Given the description of an element on the screen output the (x, y) to click on. 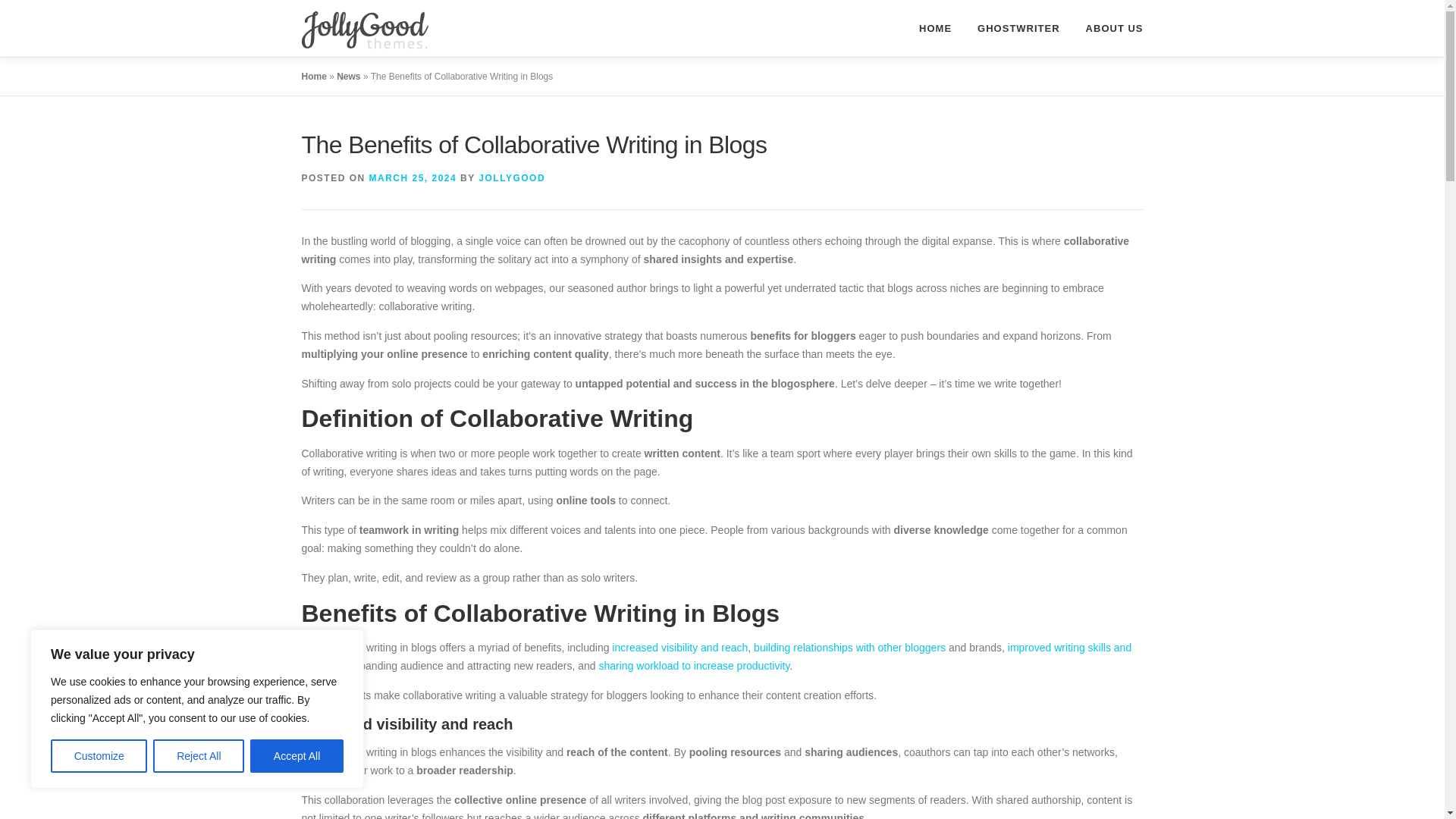
Home (313, 76)
MARCH 25, 2024 (413, 177)
HOME (934, 28)
improved writing skills and creativity (716, 656)
GHOSTWRITER (1018, 28)
increased visibility and reach (679, 647)
Accept All (296, 756)
sharing workload to increase productivity (694, 665)
ABOUT US (1107, 28)
Customize (98, 756)
